Given the description of an element on the screen output the (x, y) to click on. 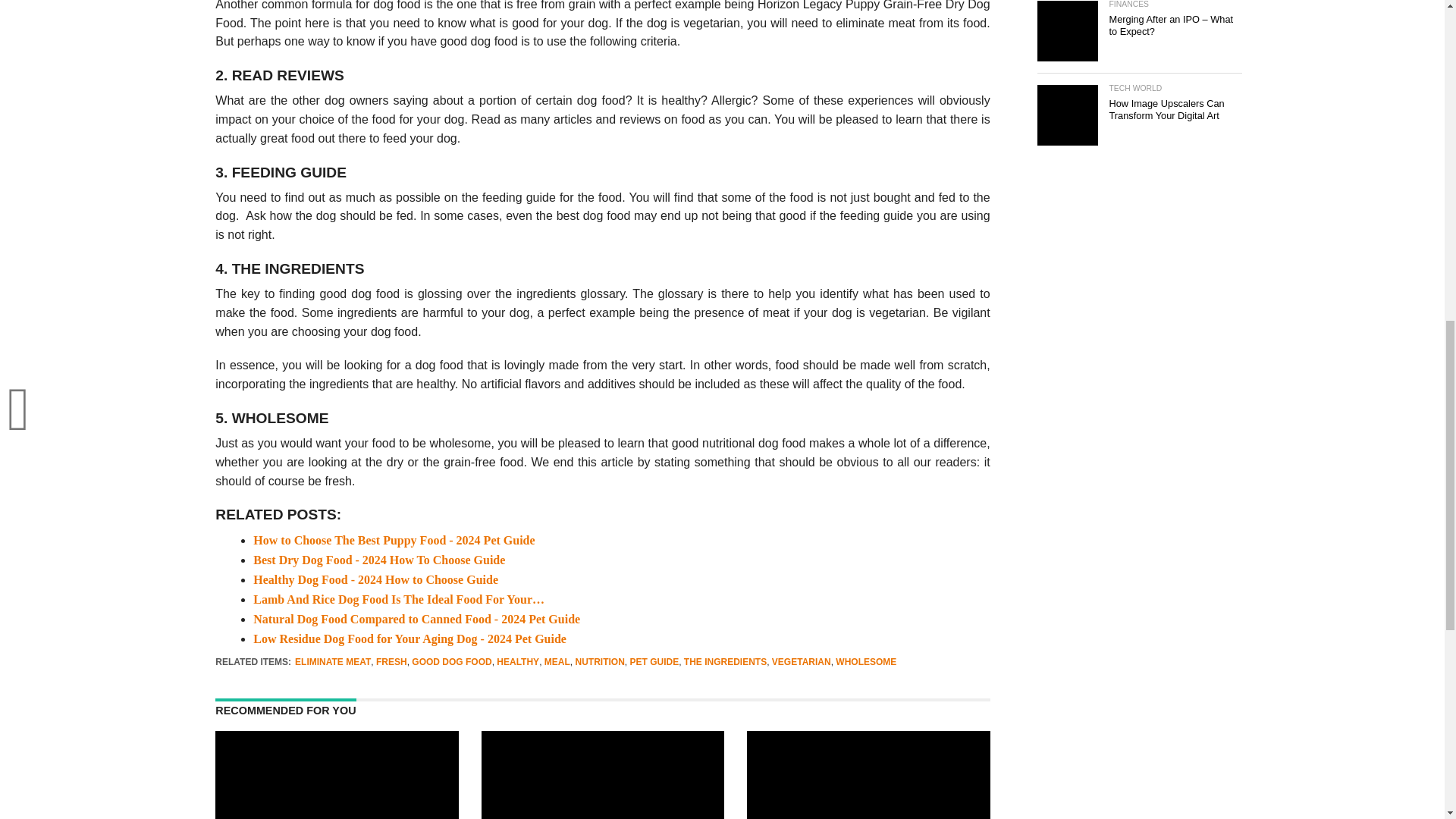
How to Choose The Best Puppy Food - 2024 Pet Guide (393, 540)
FRESH (391, 661)
WHOLESOME (865, 661)
GOOD DOG FOOD (452, 661)
Natural Dog Food Compared to Canned Food - 2024 Pet Guide (416, 618)
THE INGREDIENTS (725, 661)
ELIMINATE MEAT (333, 661)
NUTRITION (599, 661)
VEGETARIAN (801, 661)
Best Dry Dog Food - 2024 How To Choose Guide (379, 559)
